Given the description of an element on the screen output the (x, y) to click on. 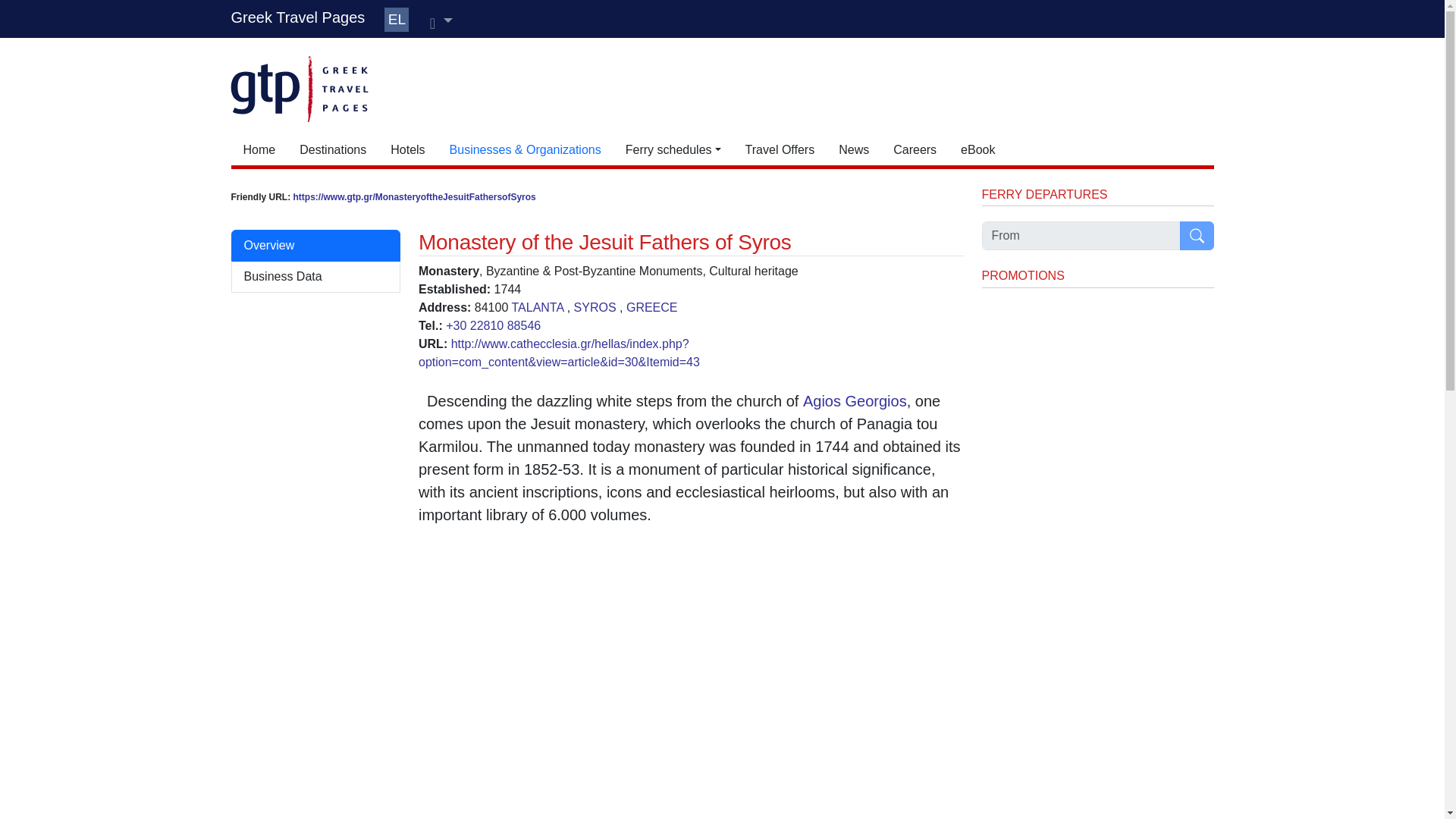
Greek Travel Pages (297, 16)
User menu (440, 21)
Home (258, 150)
Hotels (407, 150)
EL (396, 19)
Ferry schedules (672, 150)
Destinations (332, 150)
